Given the description of an element on the screen output the (x, y) to click on. 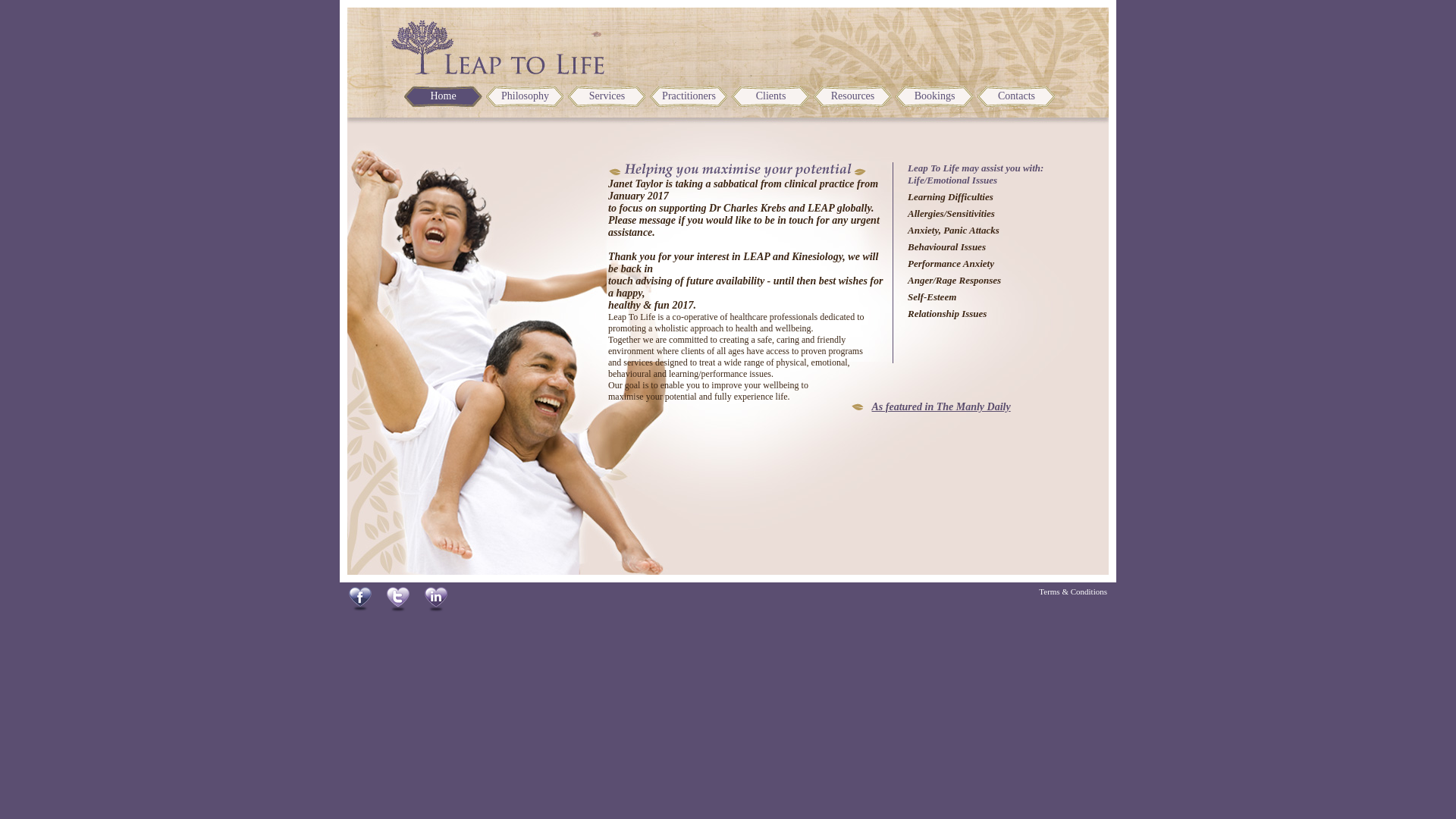
Helping you maximise your potential Element type: hover (737, 170)
Services Element type: text (606, 98)
Terms & Conditions Element type: text (1072, 591)
Practitioners Element type: text (688, 98)
Bookings Element type: text (934, 98)
Home Element type: text (443, 98)
Clients Element type: text (770, 98)
Resources Element type: text (852, 98)
Contacts Element type: text (1016, 98)
As featured in The Manly Daily Element type: text (941, 406)
Philosophy Element type: text (525, 98)
